Given the description of an element on the screen output the (x, y) to click on. 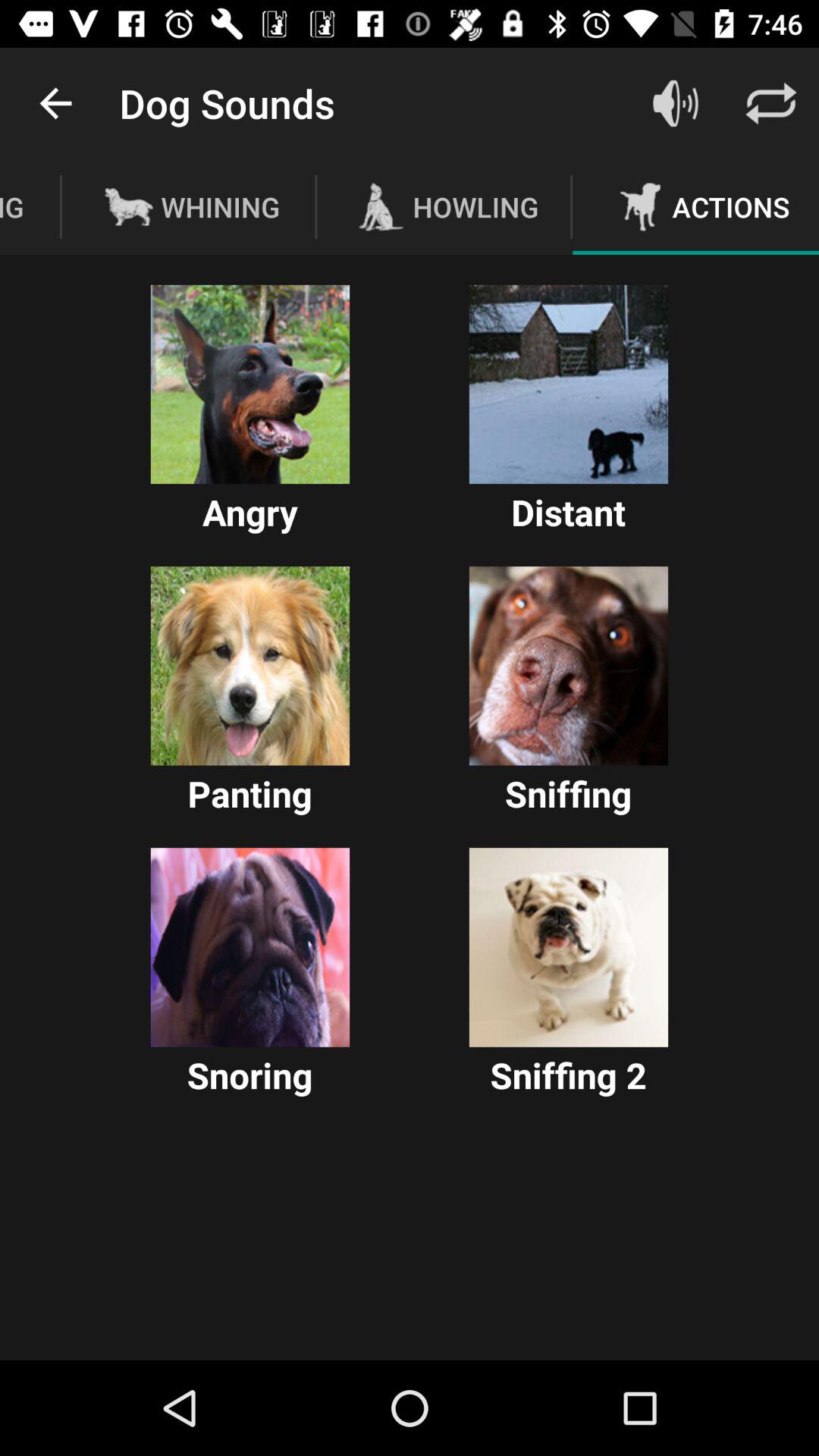
select sniffing (568, 665)
